Given the description of an element on the screen output the (x, y) to click on. 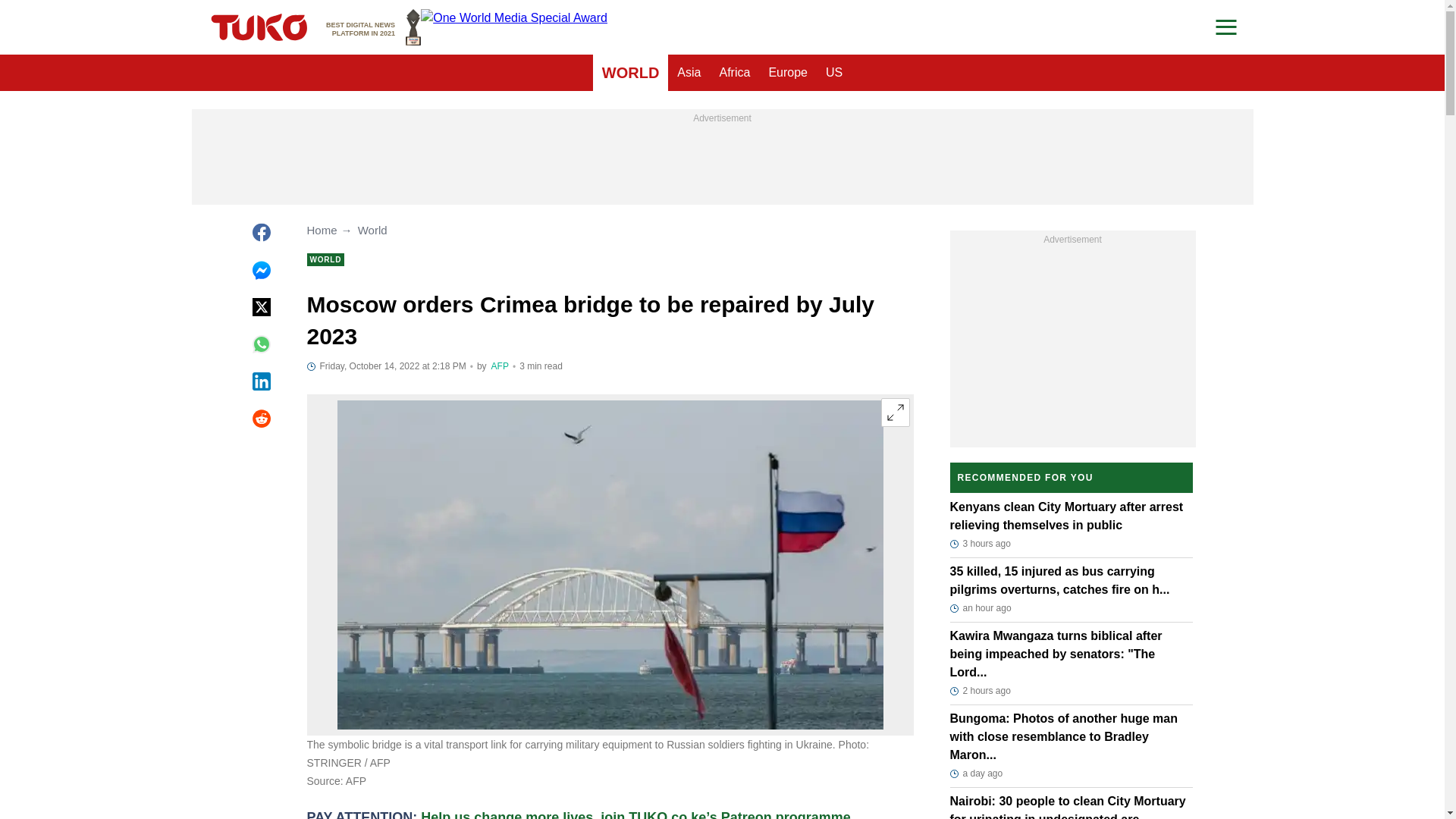
Expand image (895, 412)
Author page (373, 27)
US (500, 366)
Africa (833, 72)
WORLD (734, 72)
Europe (630, 72)
Asia (787, 72)
